Given the description of an element on the screen output the (x, y) to click on. 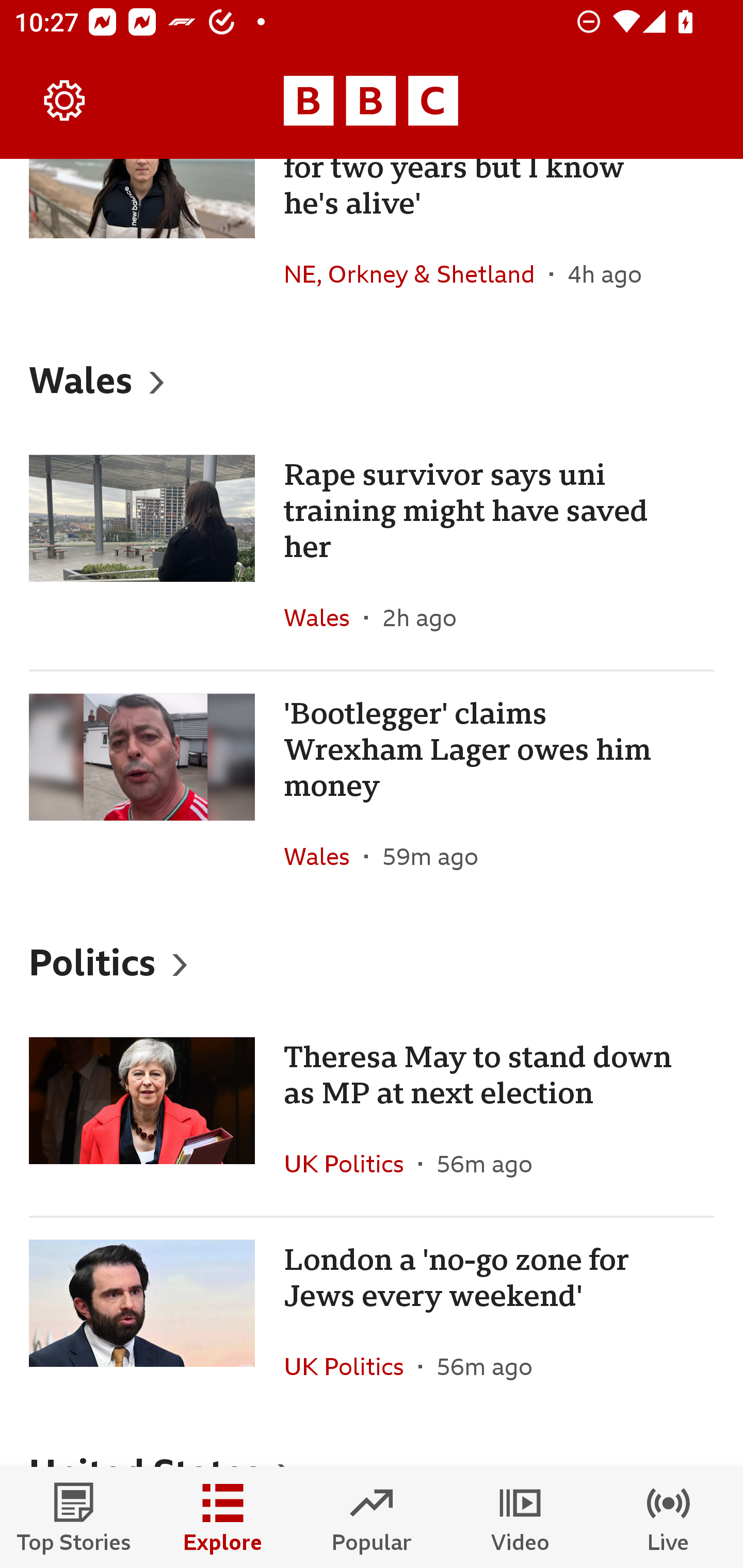
Settings (64, 100)
Wales, Heading Wales    (371, 379)
Wales In the section Wales (323, 617)
Wales In the section Wales (323, 855)
Politics, Heading Politics    (371, 960)
UK Politics In the section UK Politics (350, 1163)
UK Politics In the section UK Politics (350, 1366)
Top Stories (74, 1517)
Popular (371, 1517)
Video (519, 1517)
Live (668, 1517)
